Given the description of an element on the screen output the (x, y) to click on. 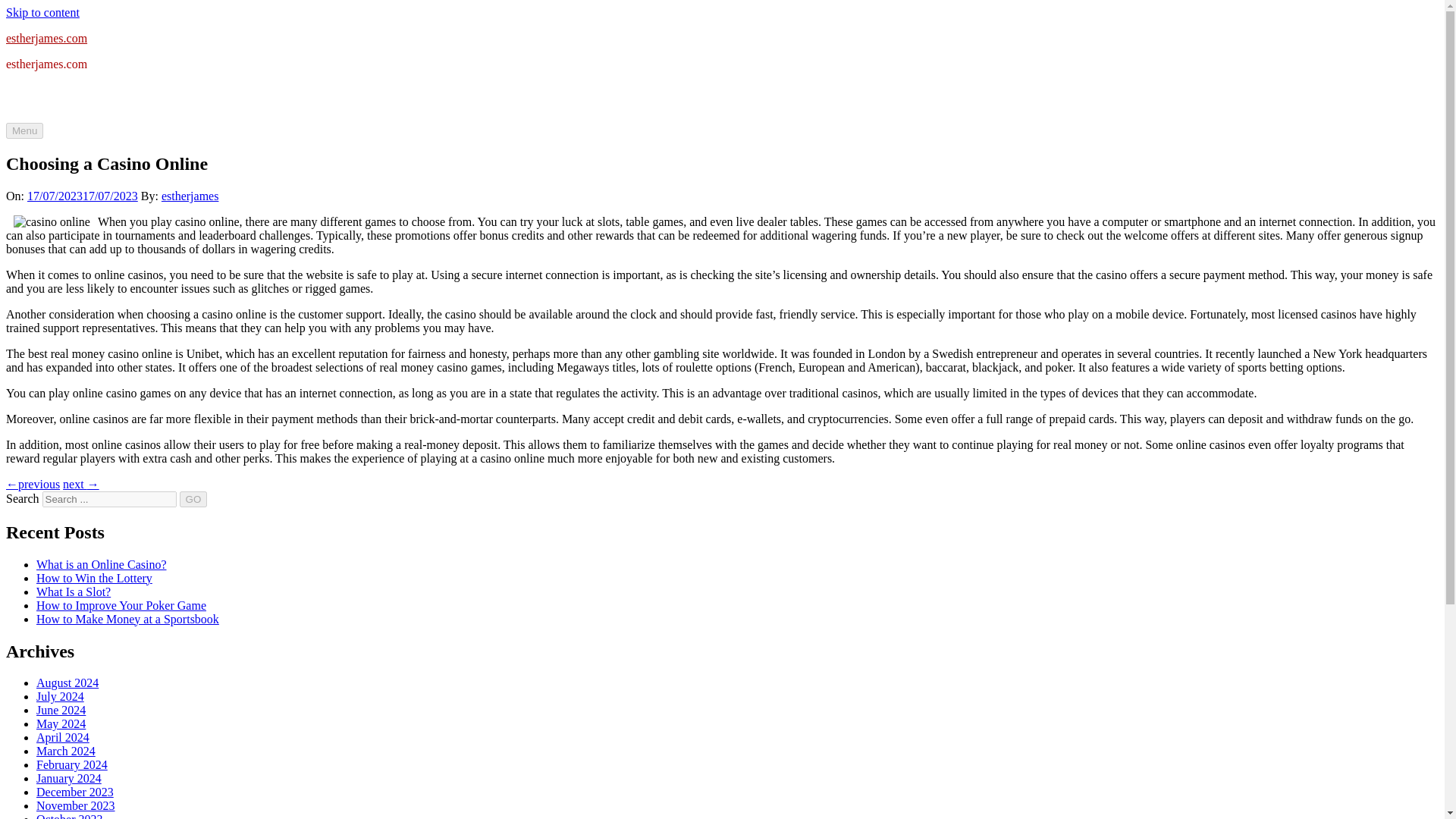
June 2024 (60, 709)
How to Win the Lottery (94, 577)
October 2023 (69, 816)
Menu (24, 130)
How to Make Money at a Sportsbook (127, 618)
Skip to content (42, 11)
February 2024 (71, 764)
estherjames (190, 195)
July 2024 (60, 696)
GO (193, 498)
